Given the description of an element on the screen output the (x, y) to click on. 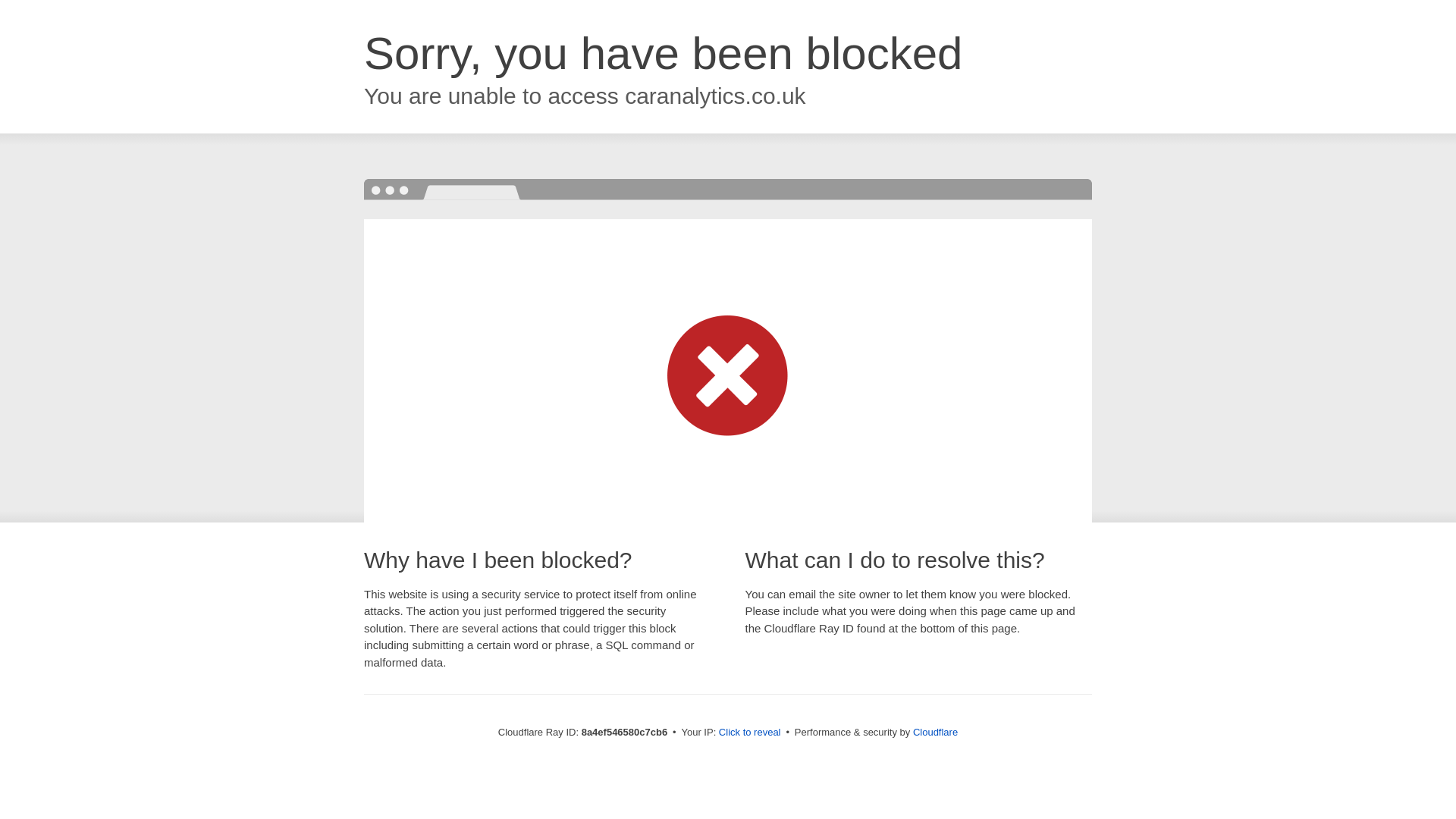
Cloudflare (935, 731)
Click to reveal (749, 732)
